Given the description of an element on the screen output the (x, y) to click on. 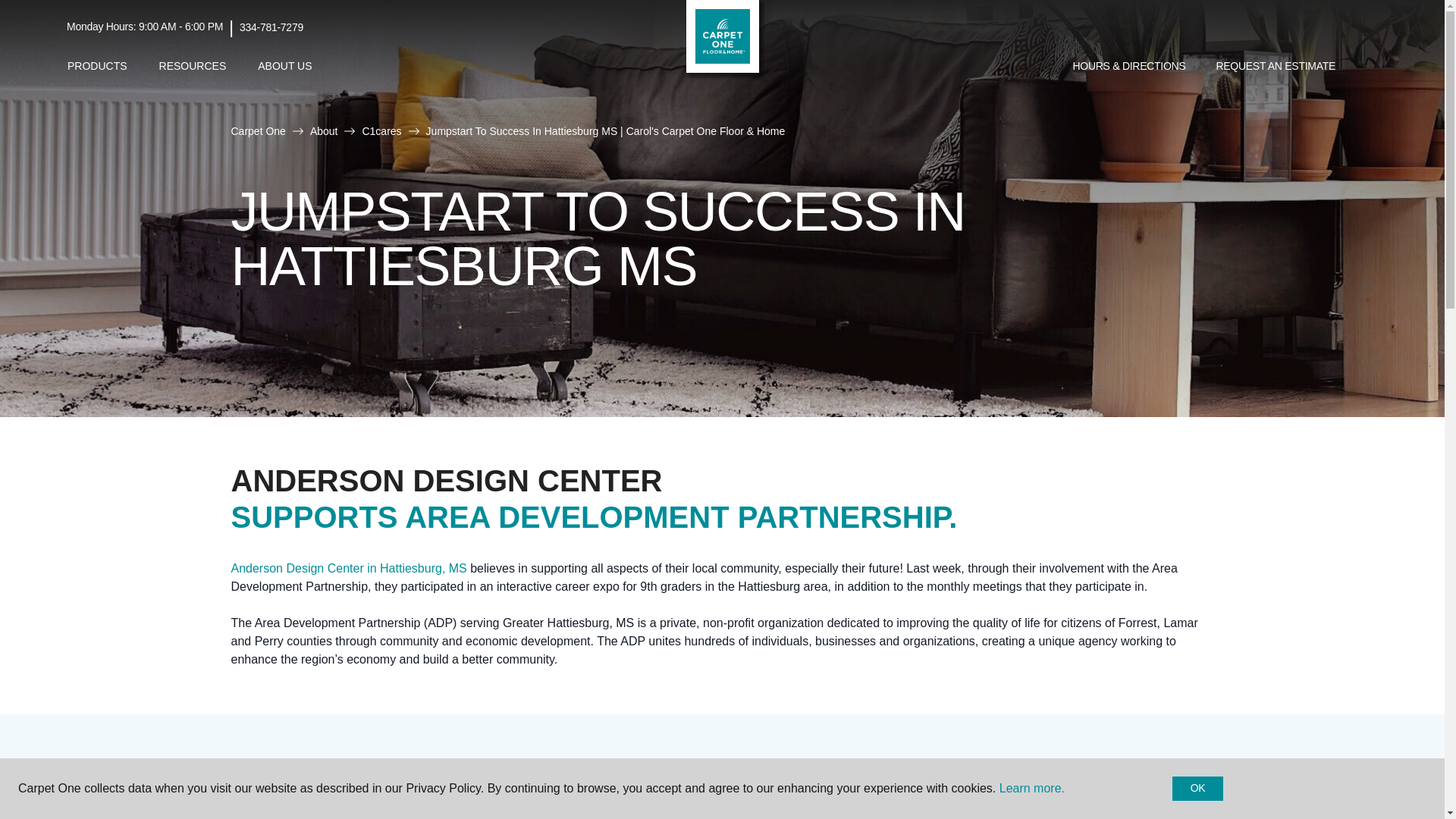
334-781-7279 (271, 27)
ABOUT US (284, 66)
PRODUCTS (97, 66)
RESOURCES (193, 66)
